Given the description of an element on the screen output the (x, y) to click on. 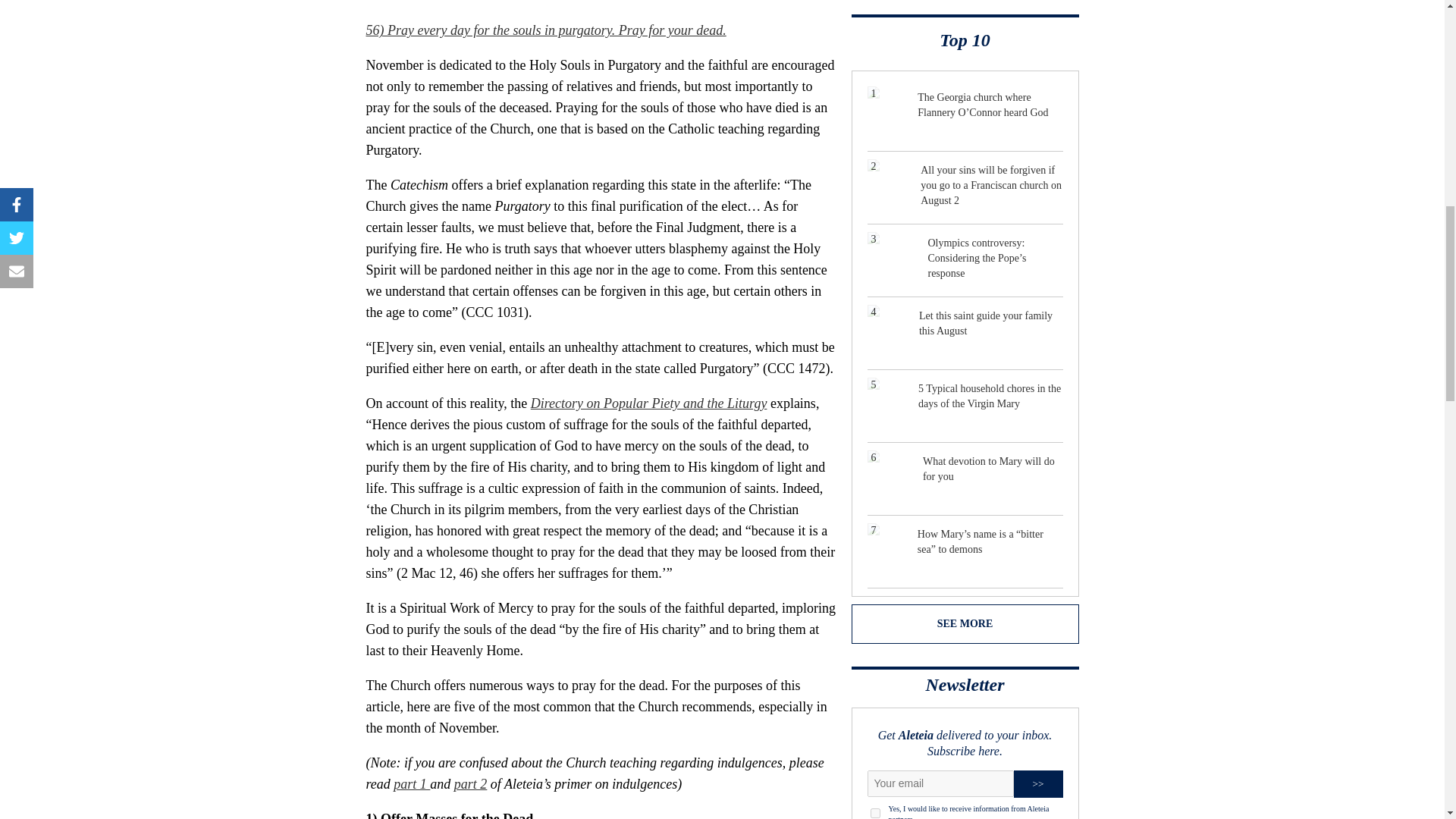
1 (875, 813)
Directory on Popular Piety and the Liturgy (649, 403)
